Given the description of an element on the screen output the (x, y) to click on. 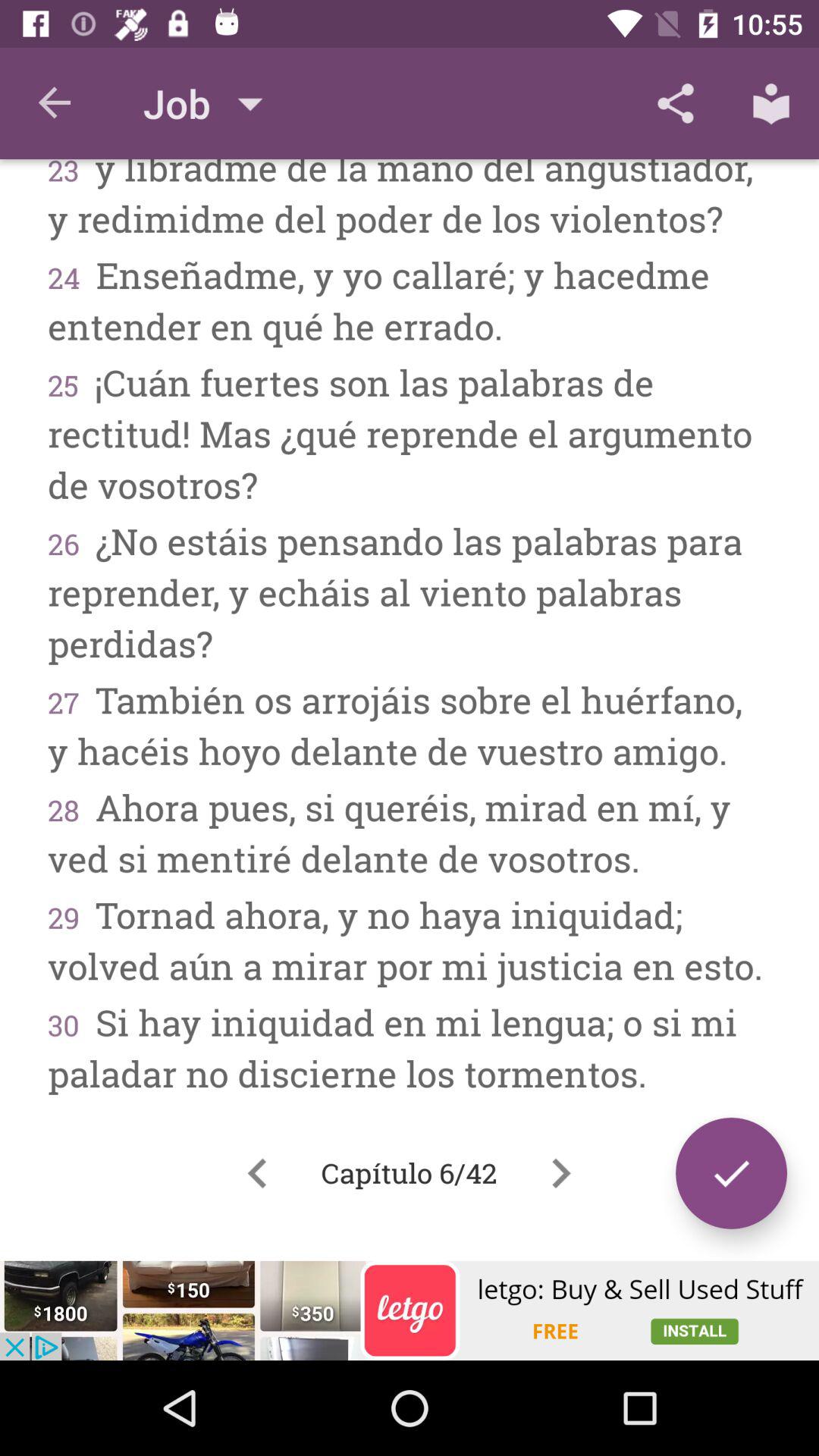
launch the icon above the 23 y libradme (675, 103)
